Given the description of an element on the screen output the (x, y) to click on. 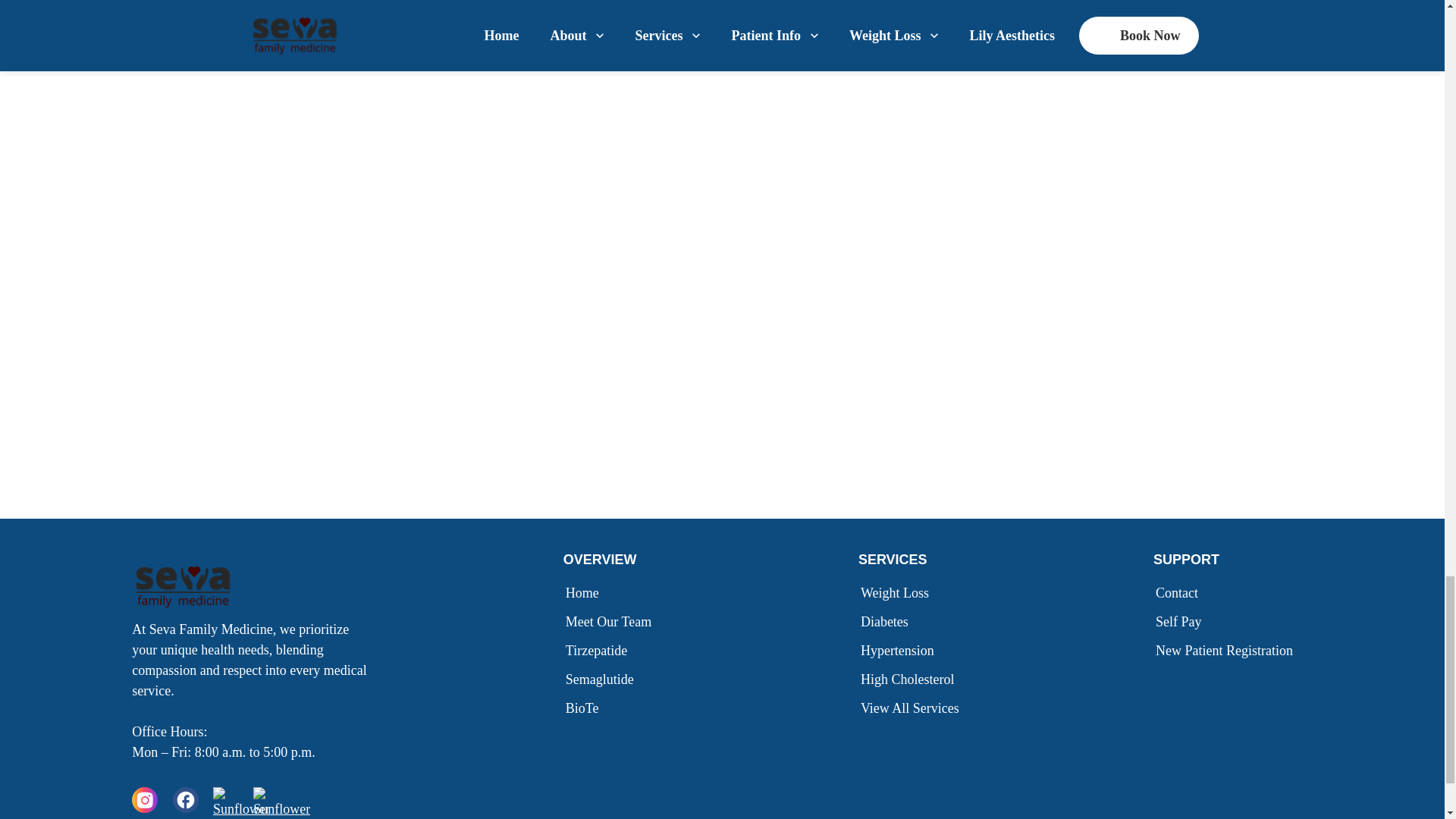
Self Pay (1182, 621)
BioTe (585, 707)
Tirzepatide (599, 650)
Hypertension (900, 650)
New Patient Registration (1227, 650)
High Cholesterol (910, 679)
View All Services (912, 707)
Meet Our Team (611, 621)
Contact (1179, 592)
Diabetes (887, 621)
